Given the description of an element on the screen output the (x, y) to click on. 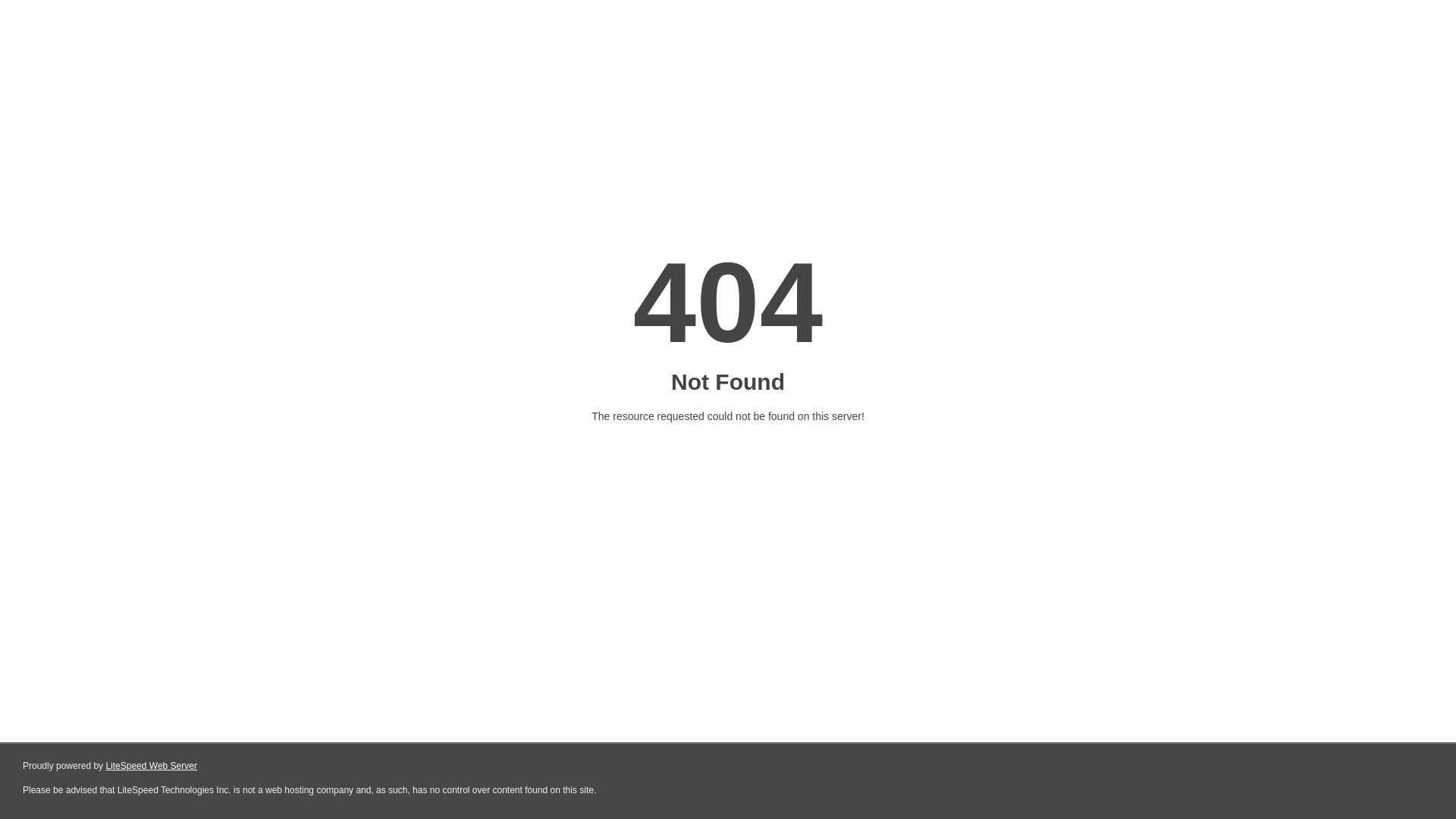
LiteSpeed Web Server Element type: text (151, 765)
